Given the description of an element on the screen output the (x, y) to click on. 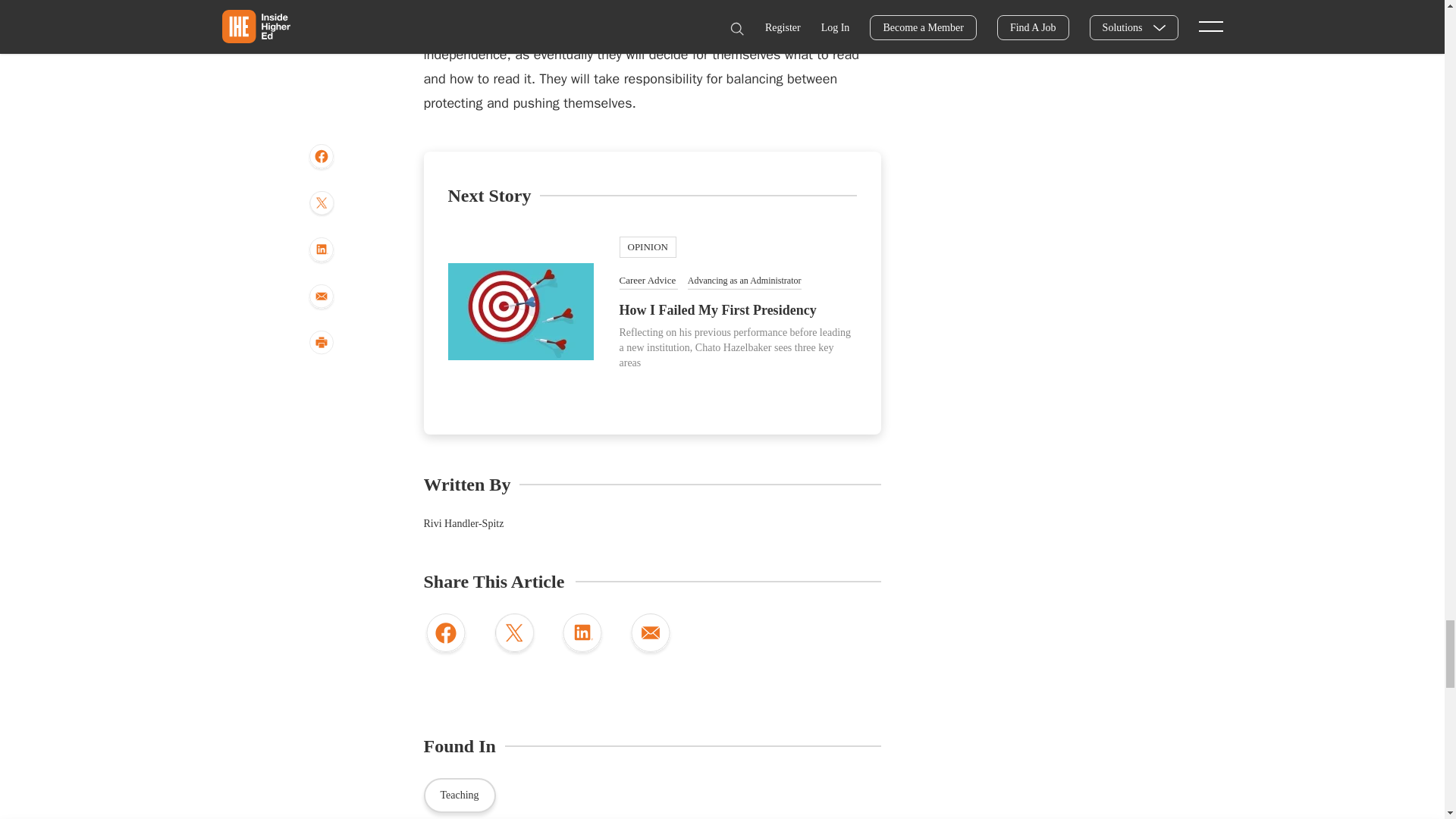
share to facebook (445, 634)
